Given the description of an element on the screen output the (x, y) to click on. 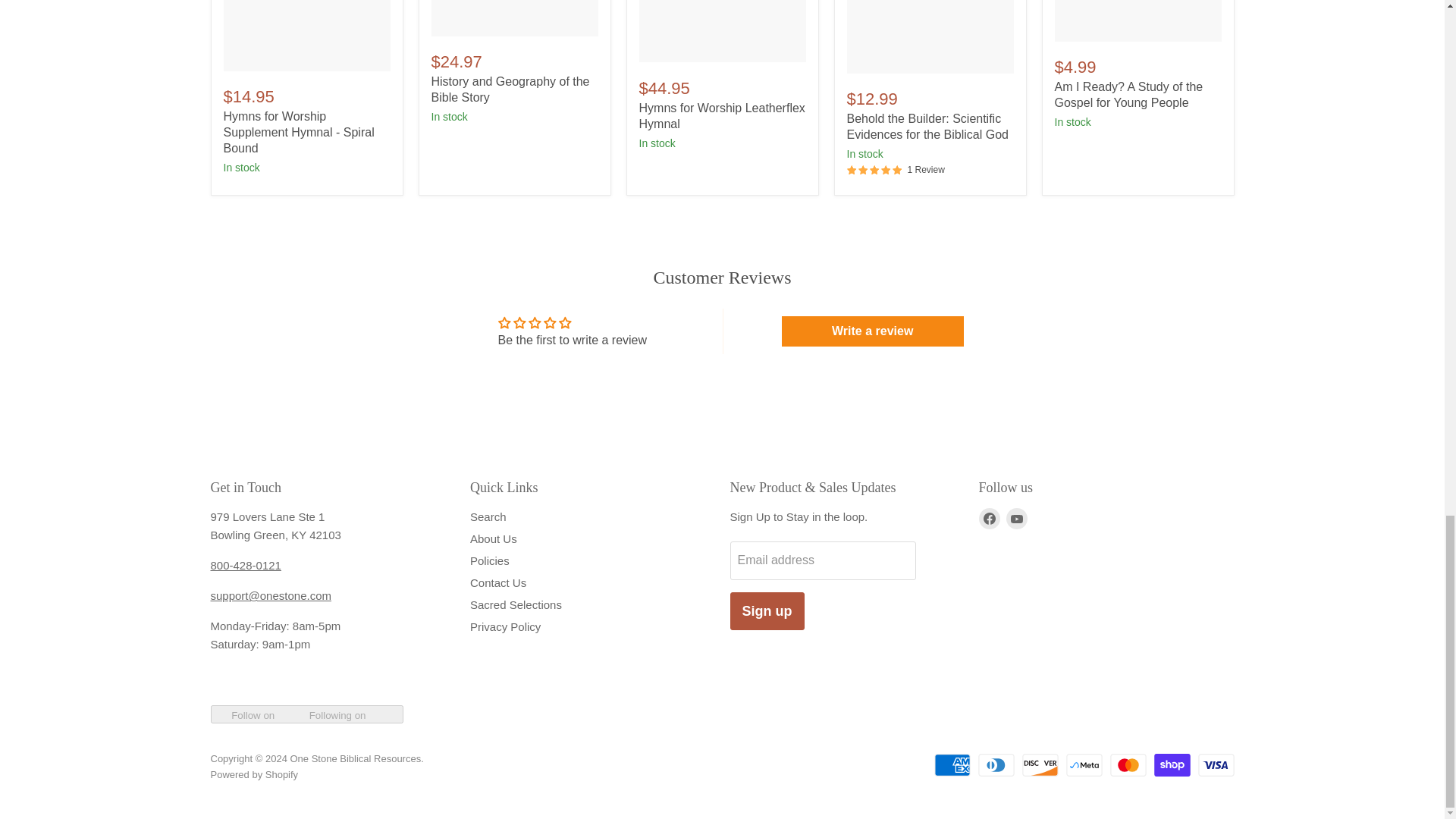
YouTube (1016, 518)
Facebook (988, 518)
